Given the description of an element on the screen output the (x, y) to click on. 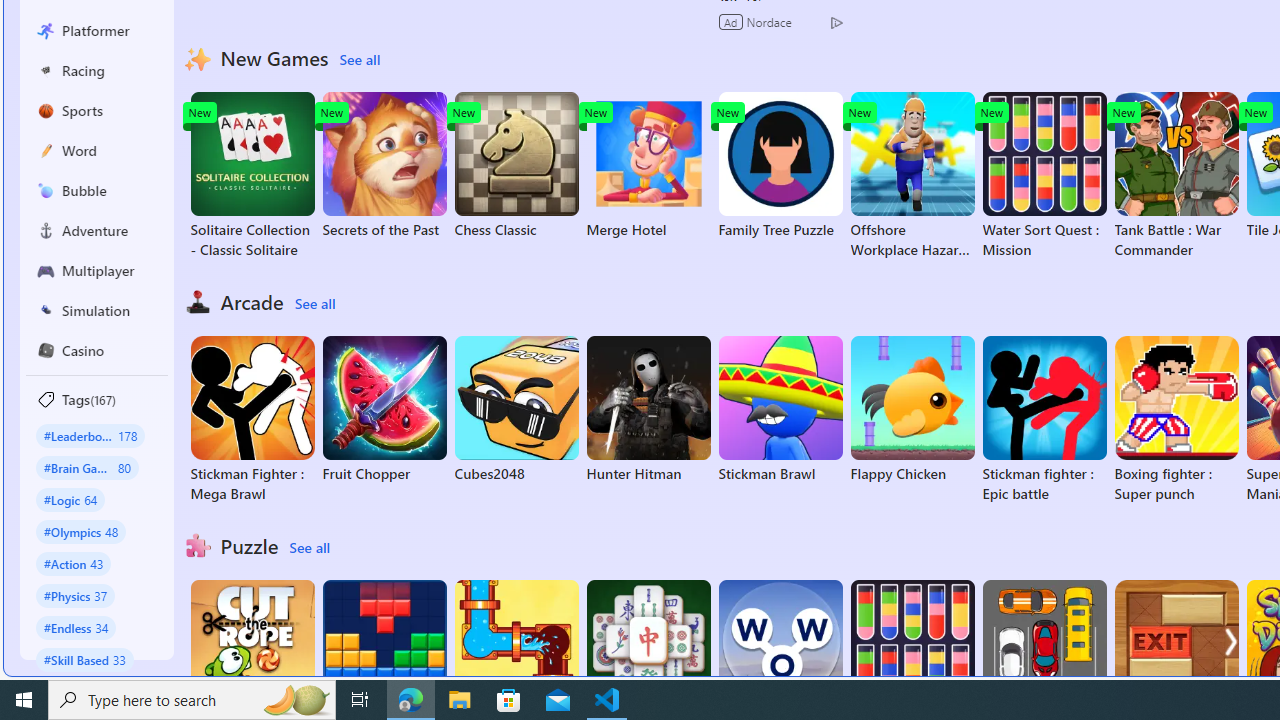
Stickman fighter : Epic battle (1044, 419)
#Brain Games 80 (87, 467)
Cubes2048 (516, 409)
#Skill Based 33 (84, 659)
See all (309, 547)
#Logic 64 (70, 498)
Hunter Hitman (648, 409)
#Olympics 48 (80, 531)
#Endless 34 (75, 627)
Offshore Workplace Hazard Game (912, 175)
Solitaire Collection - Classic Solitaire (251, 175)
